Given the description of an element on the screen output the (x, y) to click on. 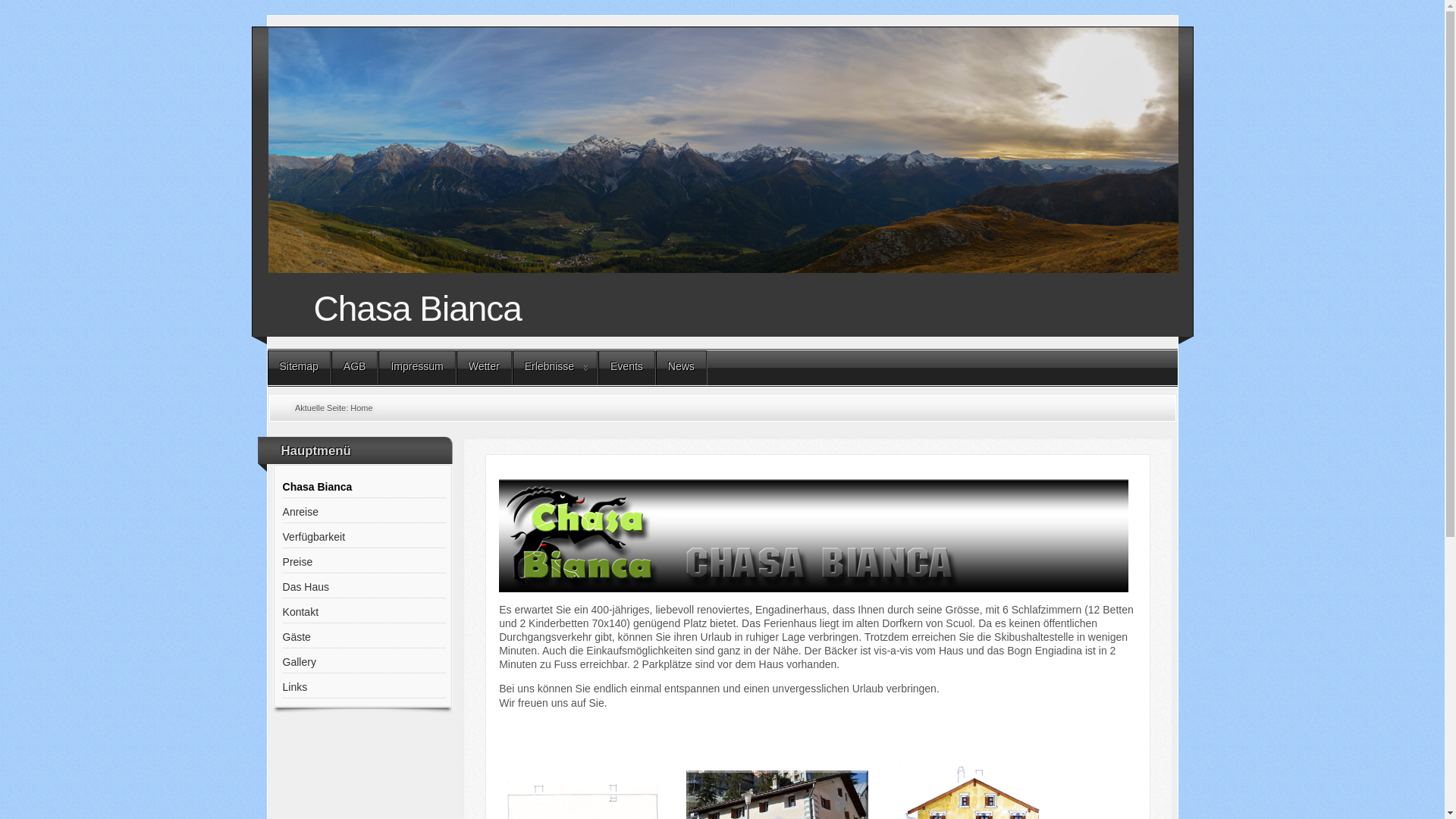
Erlebnisse Element type: text (554, 367)
Wetter Element type: text (483, 367)
Anreise Element type: text (363, 512)
Das Haus Element type: text (363, 587)
AGB Element type: text (354, 367)
Chasa Bianca Element type: text (730, 304)
Kontakt Element type: text (363, 612)
Impressum Element type: text (416, 367)
Links Element type: text (363, 687)
Sitemap Element type: text (297, 367)
Events Element type: text (626, 367)
Gallery Element type: text (363, 662)
Chasa Bianca Element type: text (363, 487)
Preise Element type: text (363, 562)
News Element type: text (680, 367)
